Given the description of an element on the screen output the (x, y) to click on. 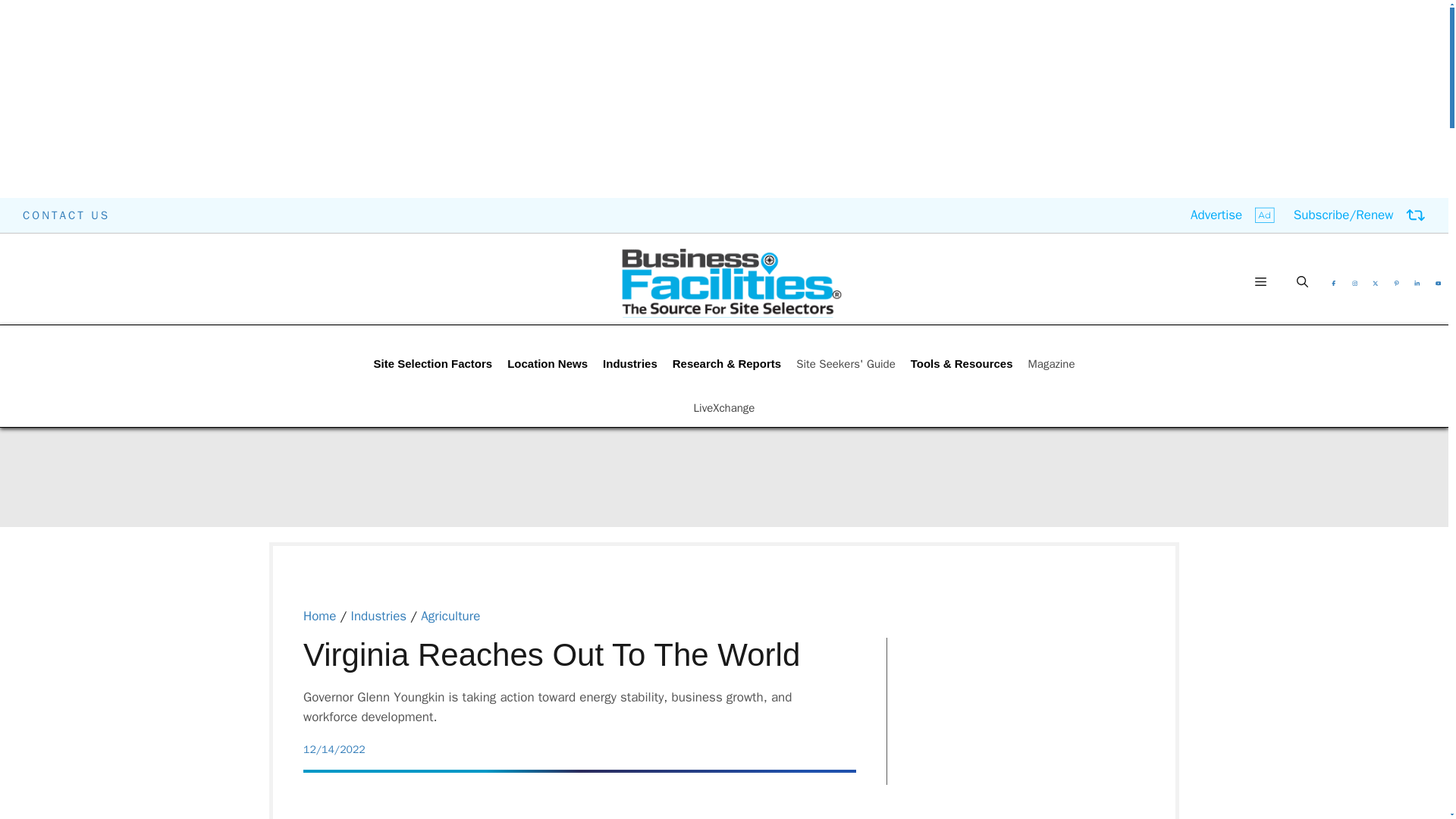
Location News (547, 364)
Site Selection Factors (432, 364)
Advertise (1233, 215)
Business Facilities Magazine (731, 281)
CONTACT US (66, 214)
